Given the description of an element on the screen output the (x, y) to click on. 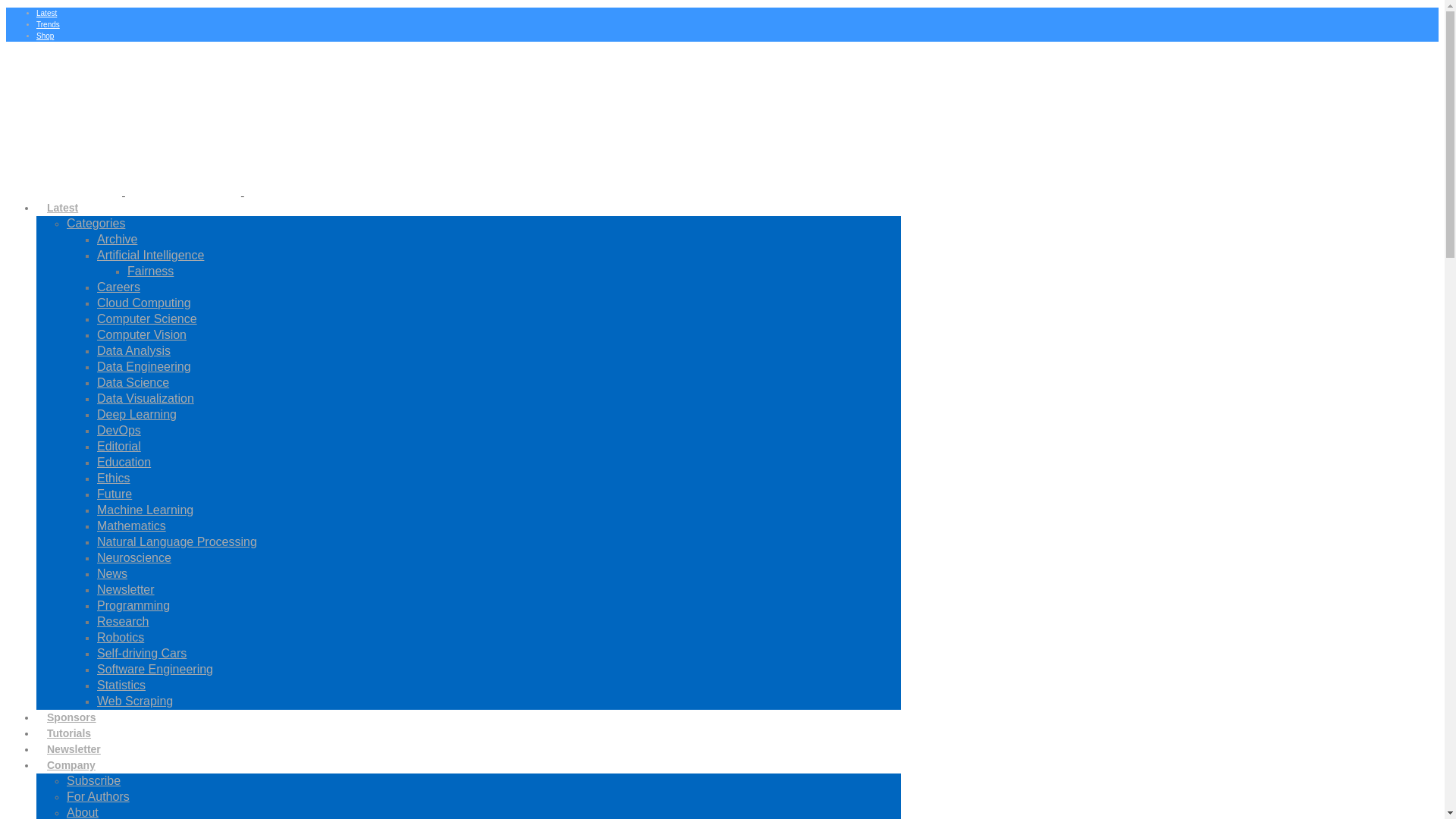
Data Science (132, 382)
Computer Vision (141, 334)
News (112, 573)
Data Analysis (133, 350)
DevOps (119, 430)
Deep Learning (136, 413)
Categories (95, 223)
Computer Science (146, 318)
Data Engineering (143, 366)
Research (122, 621)
